Given the description of an element on the screen output the (x, y) to click on. 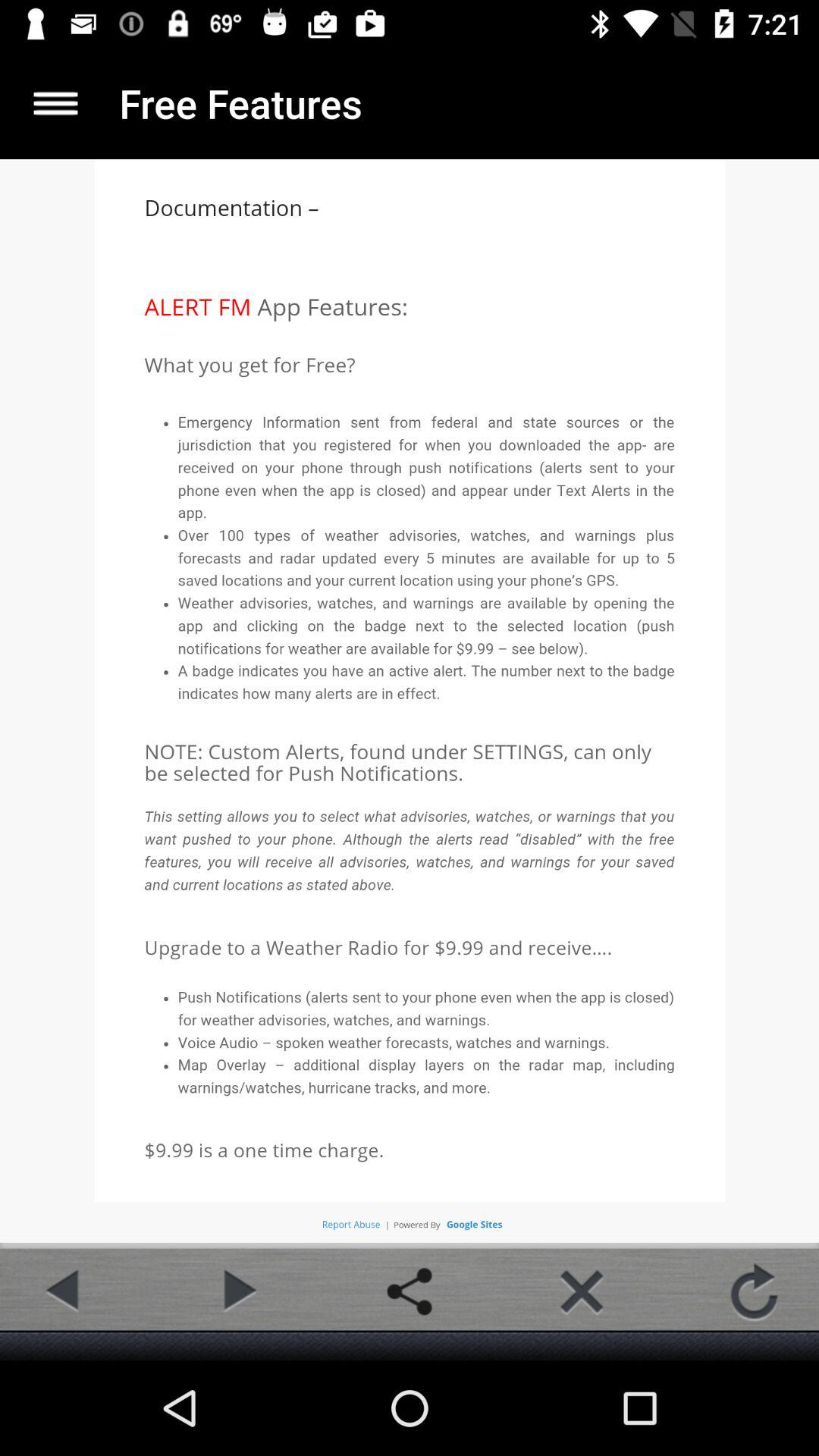
refresh (754, 1291)
